Given the description of an element on the screen output the (x, y) to click on. 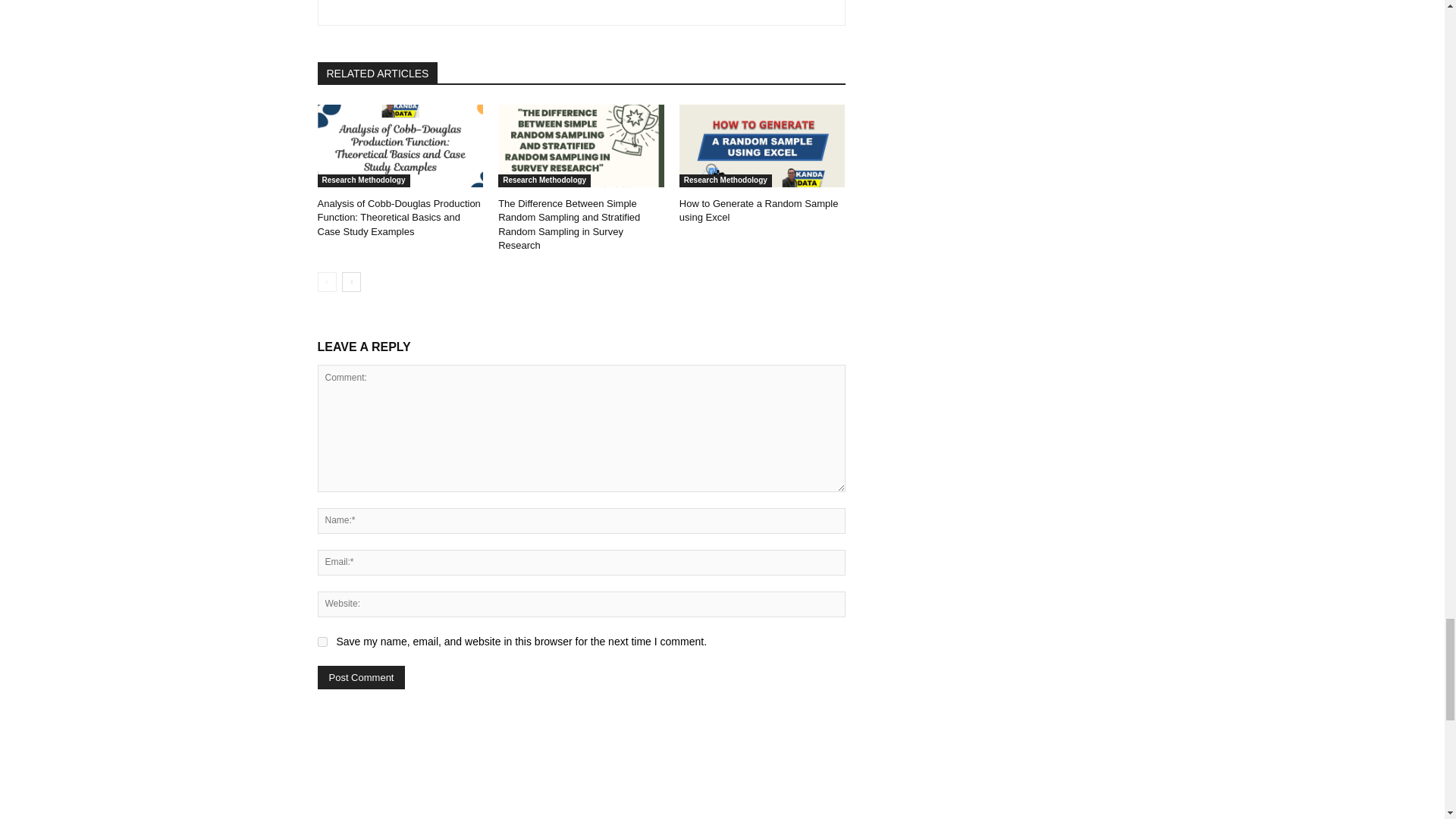
yes (321, 642)
Post Comment (360, 677)
